Given the description of an element on the screen output the (x, y) to click on. 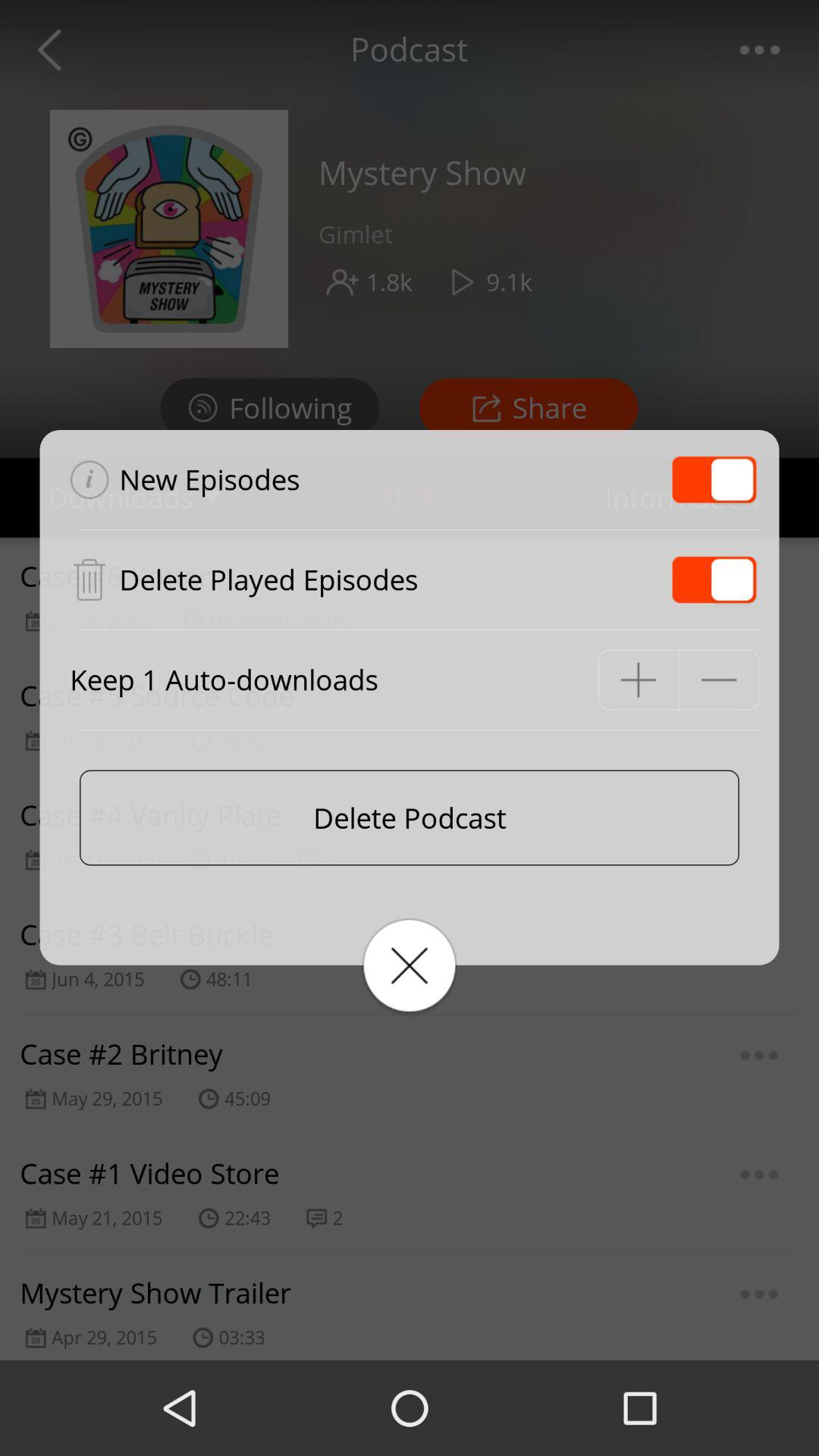
switch auto option (714, 579)
